Given the description of an element on the screen output the (x, y) to click on. 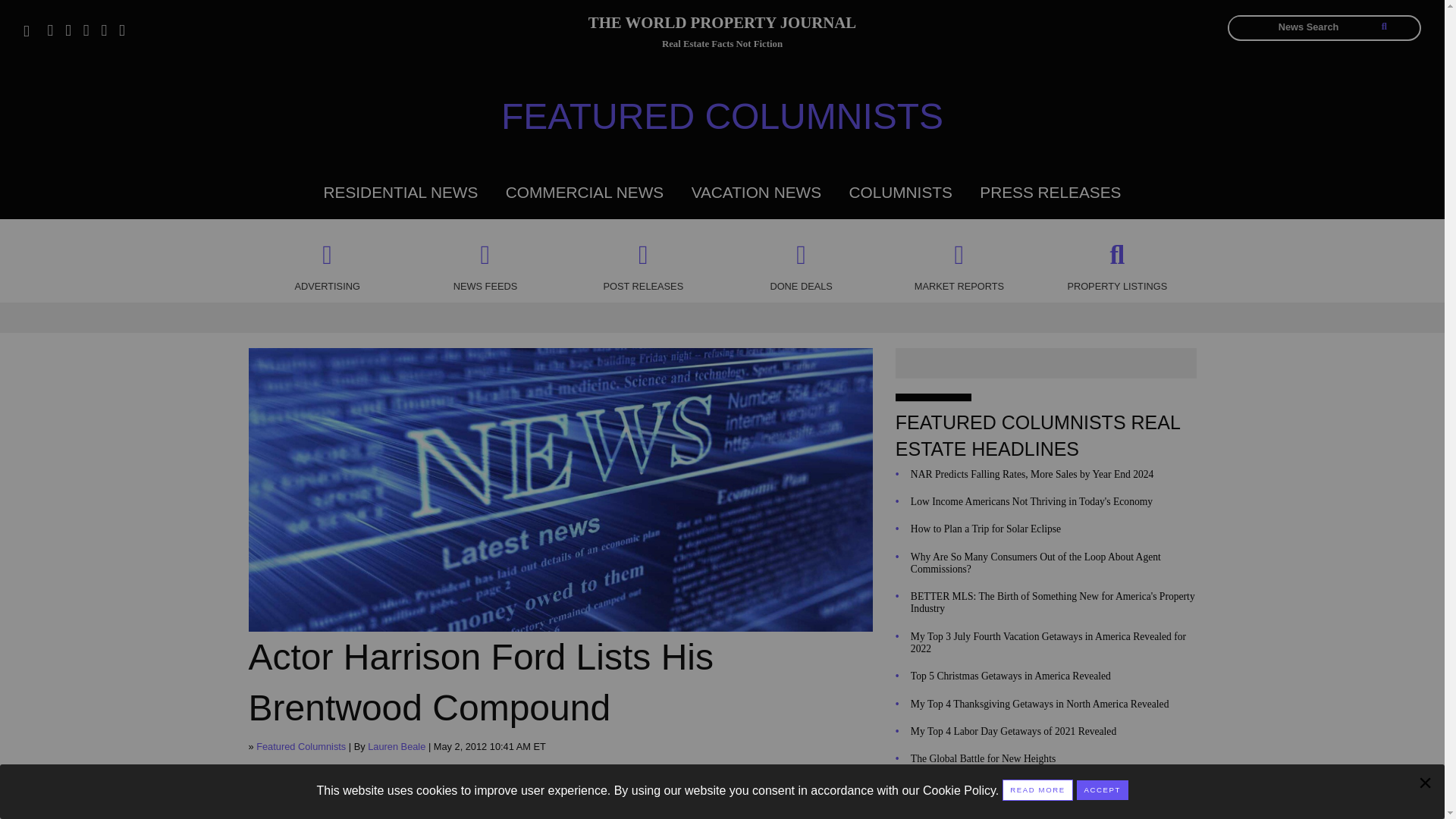
PRESS RELEASES (1050, 191)
VACATION NEWS (756, 191)
COMMERCIAL NEWS (584, 191)
COLUMNISTS (900, 191)
THE WORLD PROPERTY JOURNAL (721, 25)
RESIDENTIAL NEWS (401, 191)
